Given the description of an element on the screen output the (x, y) to click on. 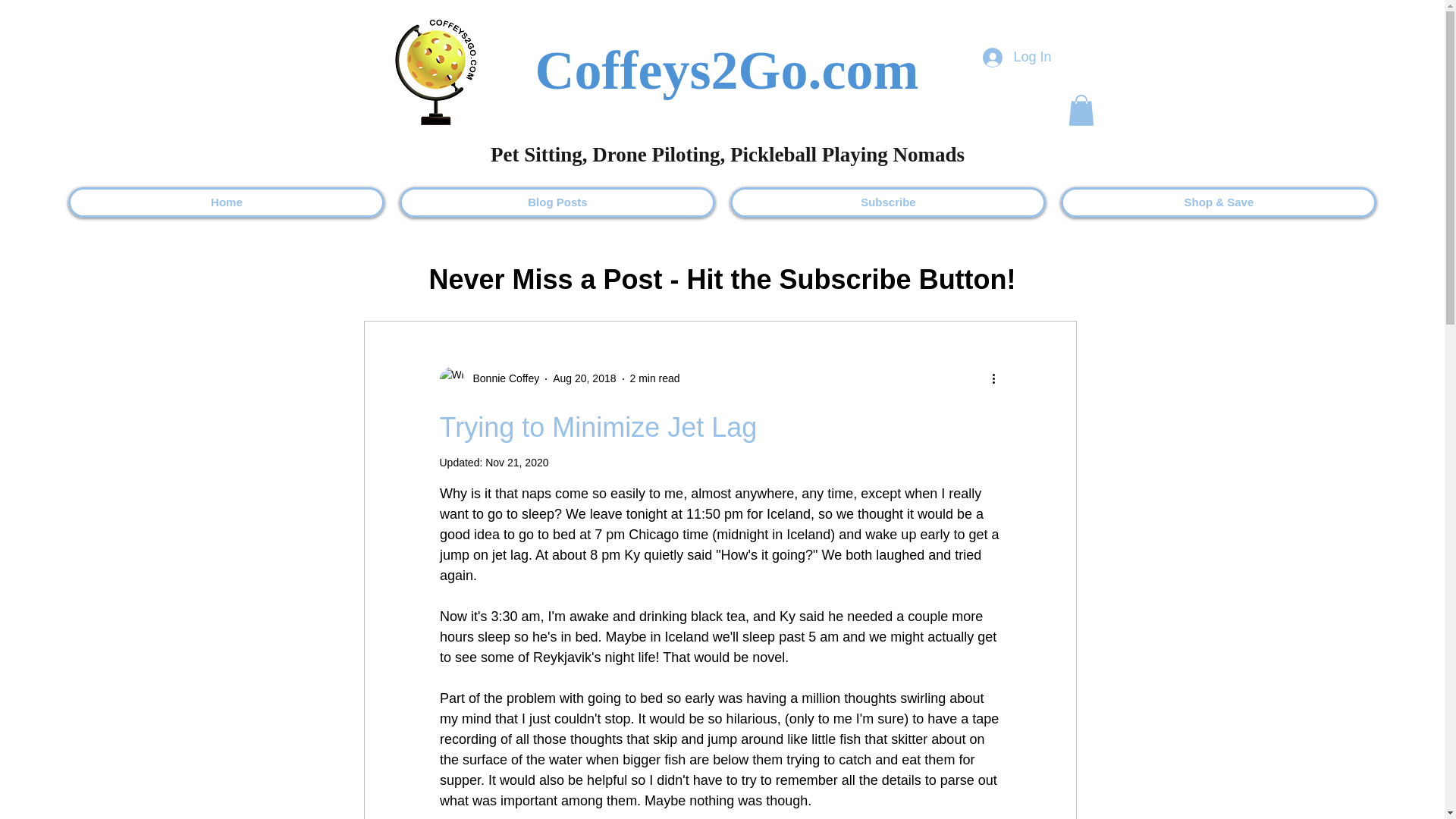
Nov 21, 2020 (516, 462)
Log In (1016, 57)
Bonnie Coffey (489, 378)
Blog Posts (556, 202)
Aug 20, 2018 (584, 378)
2 min read (653, 378)
Home (226, 202)
Bonnie Coffey (502, 378)
Subscribe (887, 202)
